Given the description of an element on the screen output the (x, y) to click on. 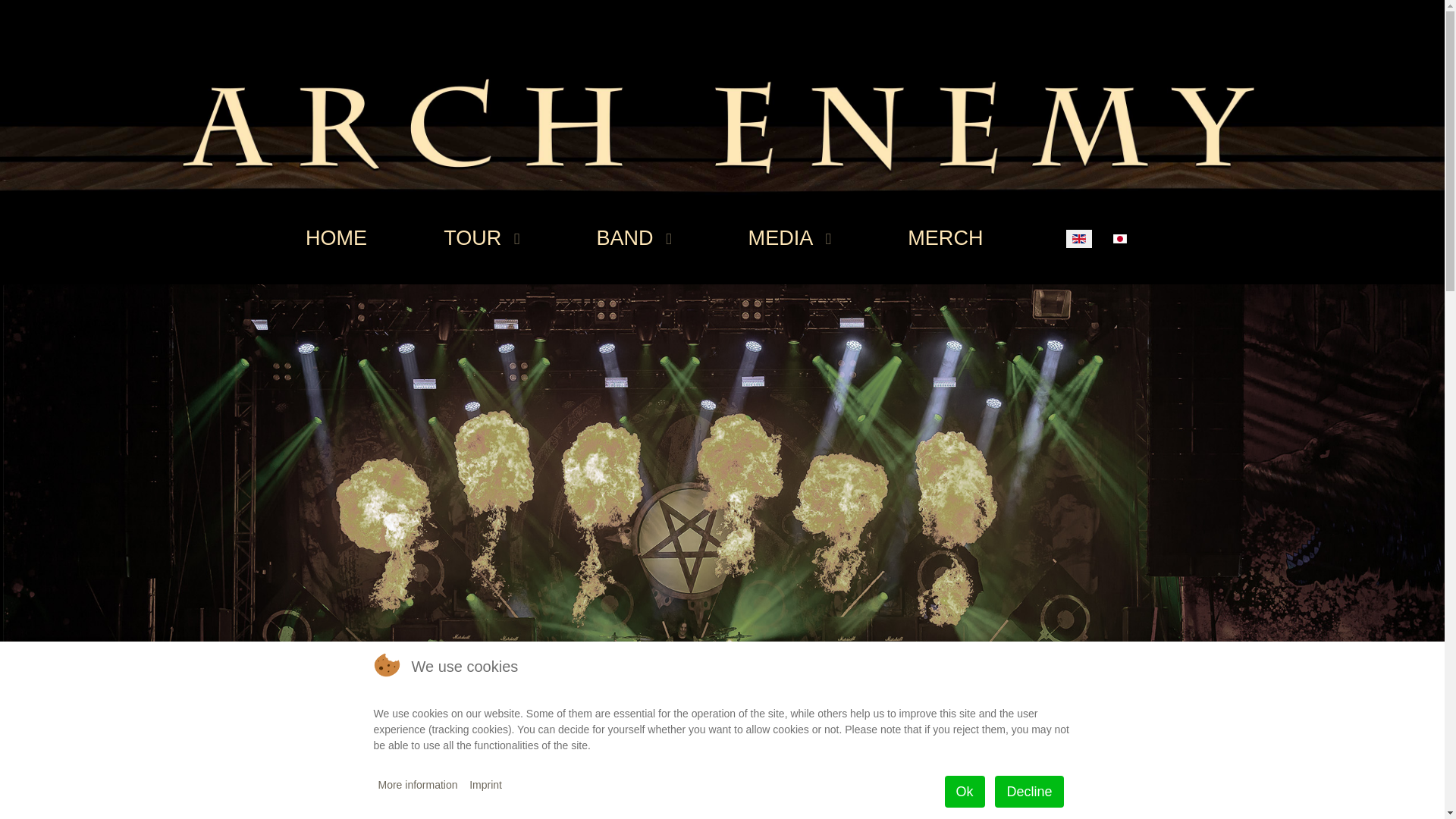
Ok (964, 791)
More information (417, 784)
HOME (335, 237)
MERCH (945, 237)
Imprint (485, 784)
Decline (1028, 791)
